Given the description of an element on the screen output the (x, y) to click on. 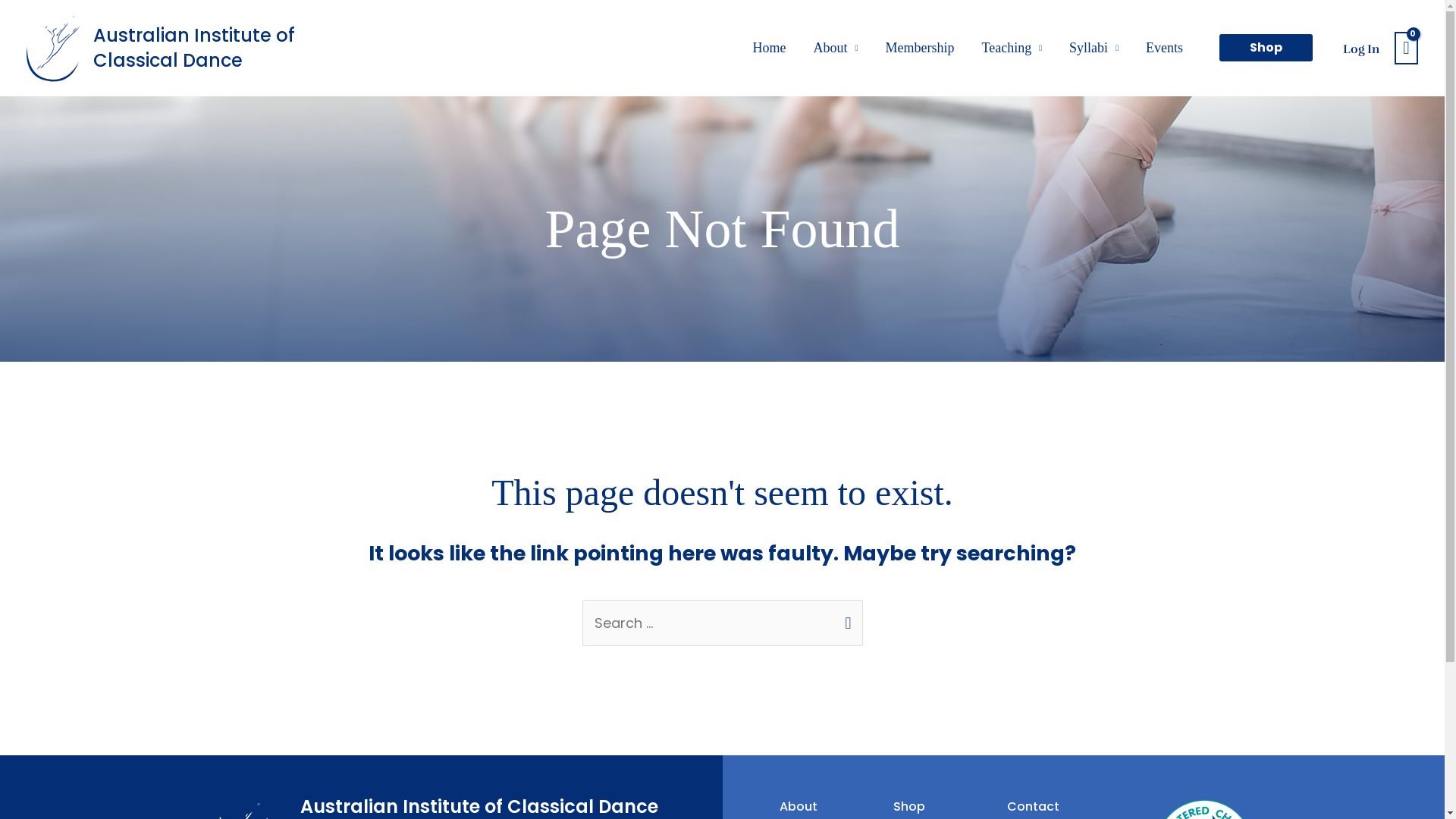
Shop Element type: text (1265, 47)
Shop Element type: text (909, 806)
Australian Institute of Classical Dance Element type: text (193, 47)
About Element type: text (835, 47)
Search Element type: text (845, 616)
About Element type: text (798, 806)
Log In Element type: text (1361, 47)
Home Element type: text (768, 47)
Teaching Element type: text (1011, 47)
Contact Element type: text (1033, 806)
Syllabi Element type: text (1093, 47)
Membership Element type: text (919, 47)
Log In Element type: text (697, 648)
Events Element type: text (1164, 47)
